Given the description of an element on the screen output the (x, y) to click on. 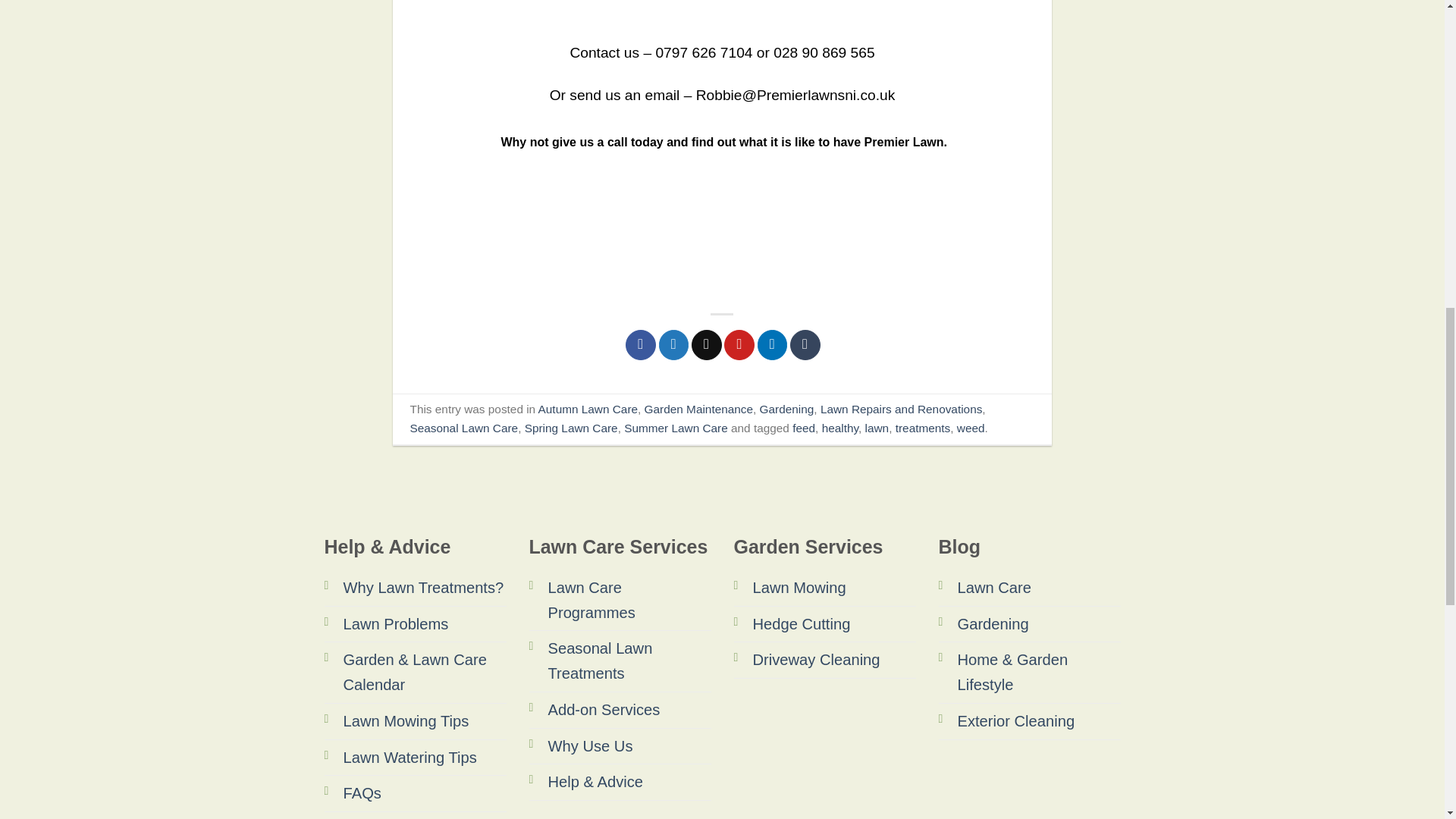
Pin on Pinterest (738, 345)
Share on LinkedIn (772, 345)
Email to a Friend (706, 345)
Share on Facebook (641, 345)
Share on Tumblr (805, 345)
Share on Twitter (673, 345)
